Given the description of an element on the screen output the (x, y) to click on. 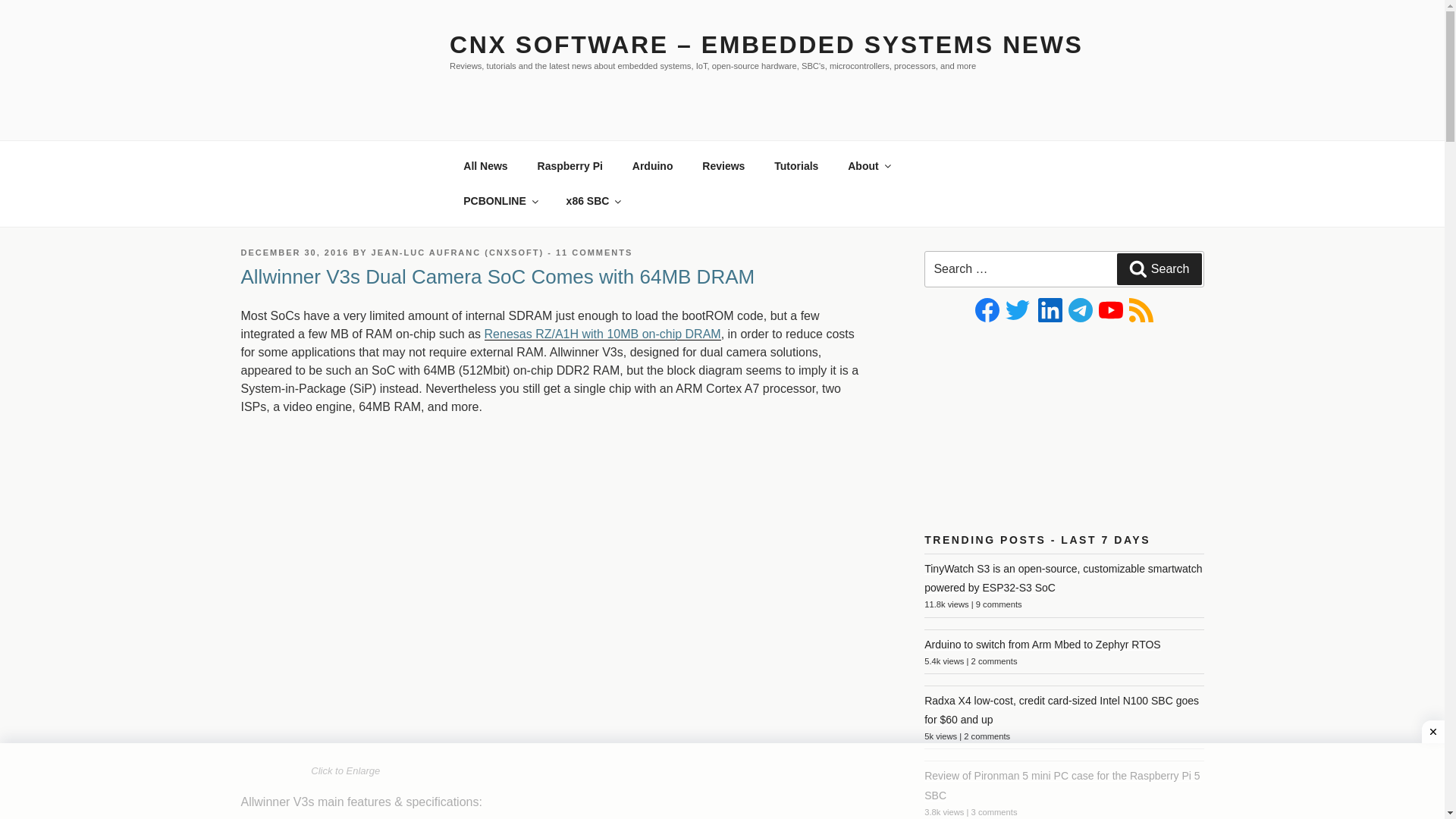
x86 SBC (593, 226)
Reviews (723, 192)
All News (485, 192)
PCBONLINE (499, 226)
Arduino (651, 192)
DECEMBER 30, 2016 (295, 278)
Tutorials (796, 192)
About (868, 192)
Purchase PCBs from our sponsor (499, 226)
